Given the description of an element on the screen output the (x, y) to click on. 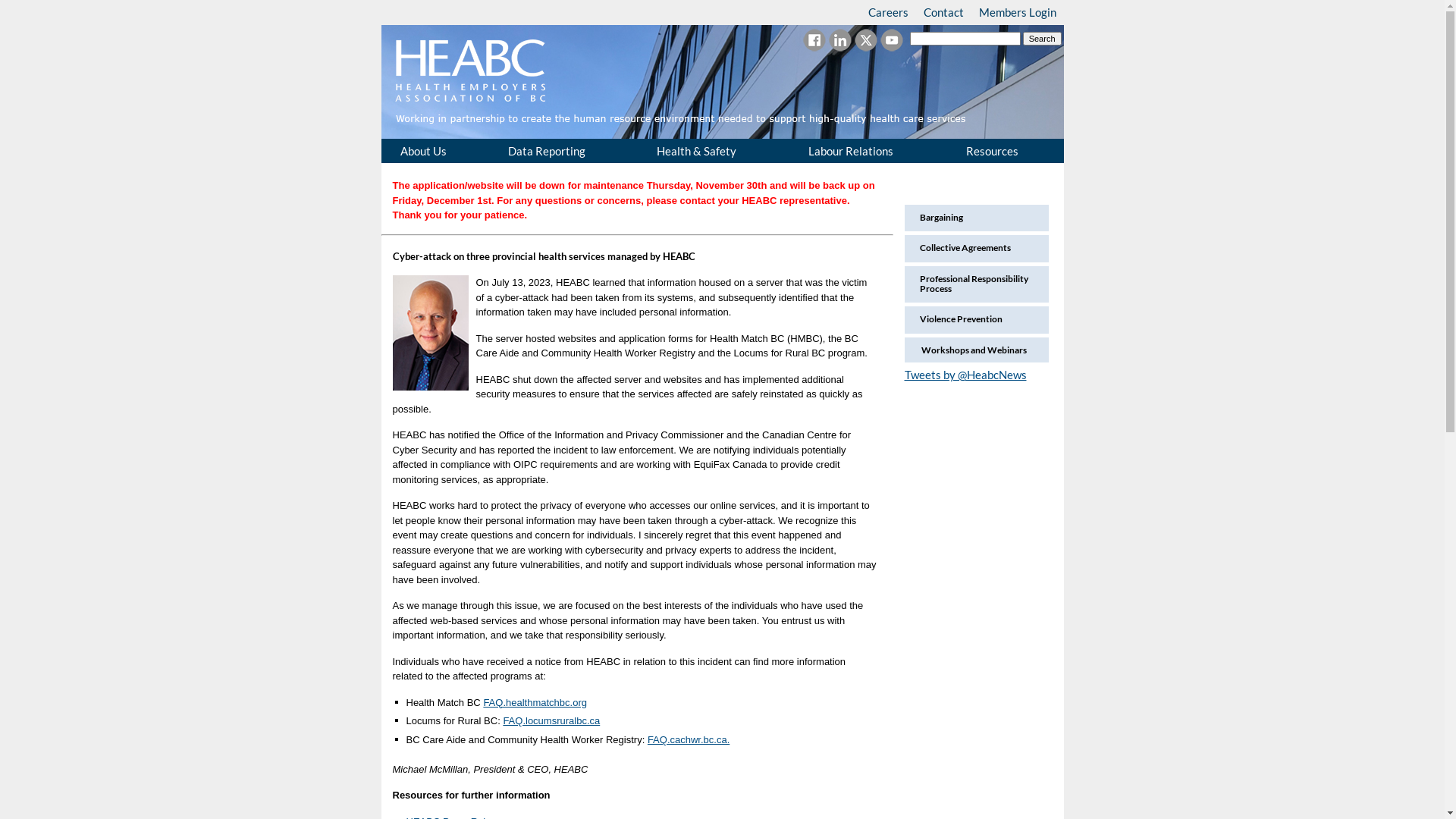
About Us Element type: text (434, 150)
Violence Prevention Element type: text (956, 328)
FAQ.healthmatchbc.org Element type: text (534, 701)
FAQ.locumsruralbc.ca Element type: text (550, 720)
Bargaining Element type: text (936, 226)
FAQ.cachwr.bc.ca. Element type: text (688, 739)
Search Element type: text (1041, 38)
Health & Safety Element type: text (713, 150)
Tweets by @HeabcNews Element type: text (964, 374)
Professional Responsibility Process Element type: text (975, 297)
Data Reporting Element type: text (563, 150)
Resources Element type: text (1005, 150)
Labour Relations Element type: text (868, 150)
Workshops and Webinars Element type: text (973, 349)
Collective Agreements Element type: text (960, 257)
